Given the description of an element on the screen output the (x, y) to click on. 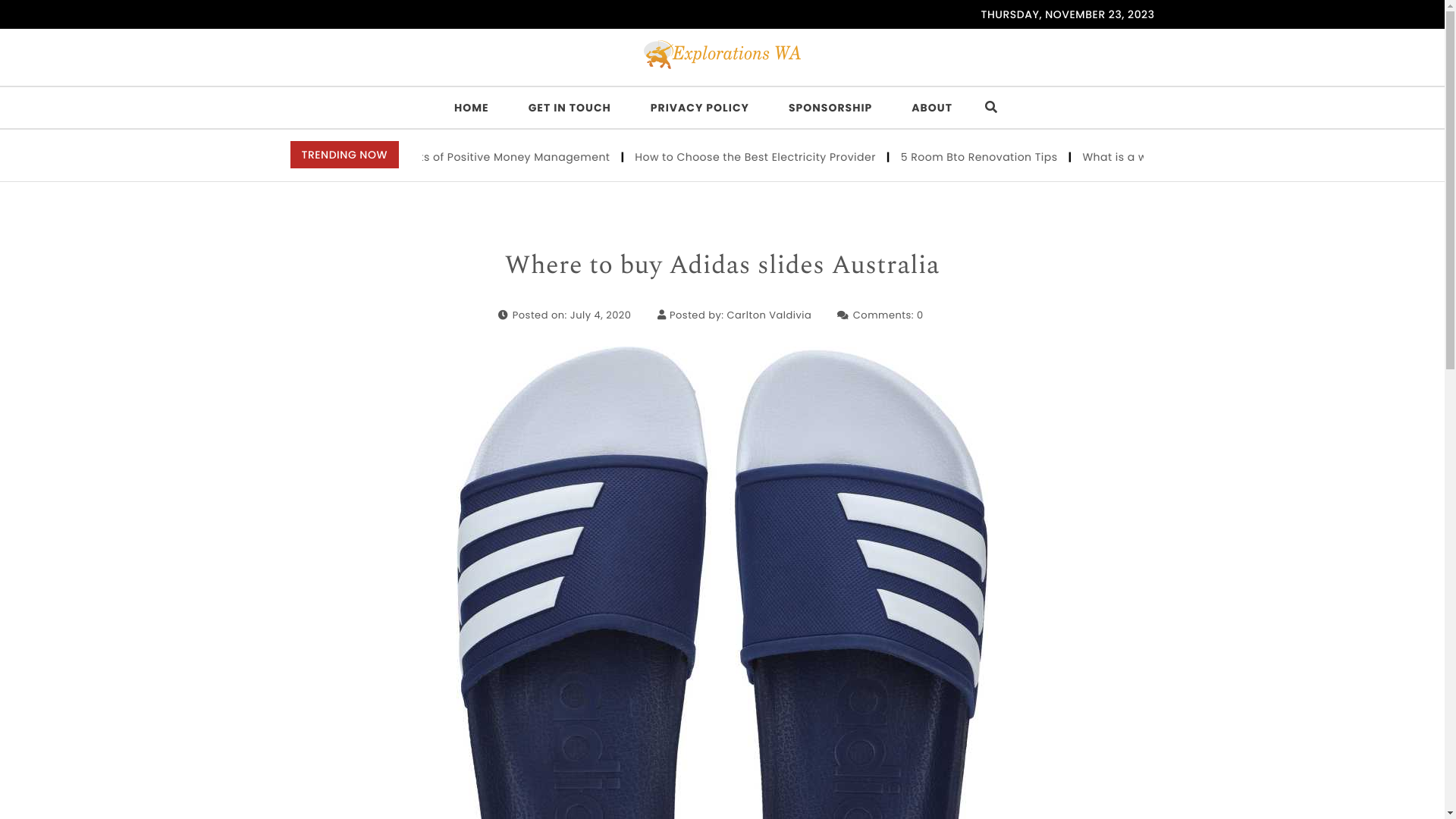
PRIVACY POLICY Element type: text (699, 107)
5 Room Bto Renovation Tips | Element type: text (1027, 156)
0 Element type: text (919, 315)
Skip to content Element type: text (0, 0)
SPONSORSHIP Element type: text (830, 107)
GET IN TOUCH Element type: text (569, 107)
ABOUT Element type: text (931, 107)
Where to buy Adidas slides Australia Element type: text (722, 265)
Benefits of Positive Money Management | Element type: text (547, 156)
What is a wheel alignment service | Element type: text (1226, 156)
How to Choose the Best Electricity Provider | Element type: text (804, 156)
HOME Element type: text (471, 107)
Carlton Valdivia Element type: text (769, 315)
